Given the description of an element on the screen output the (x, y) to click on. 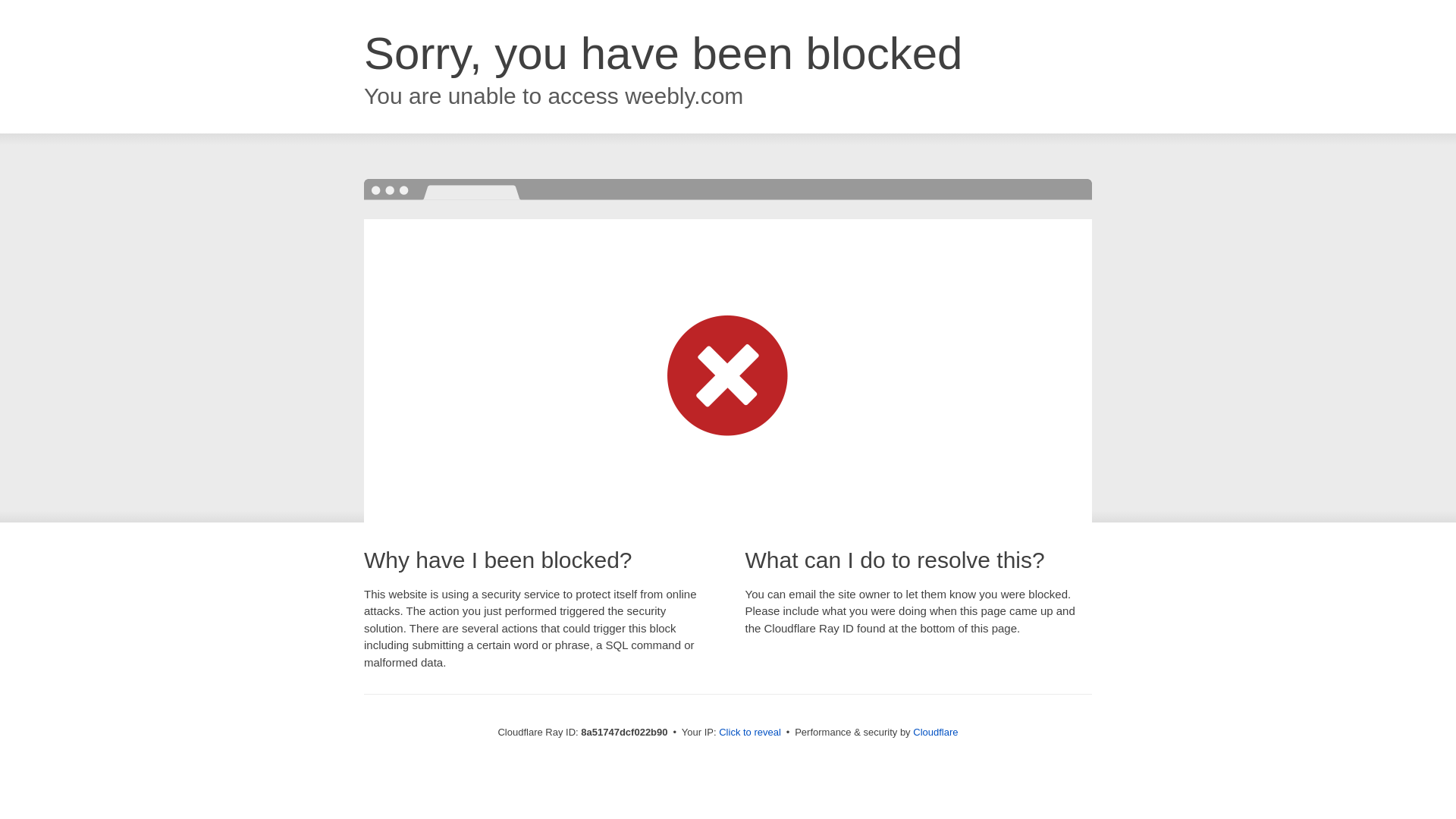
Click to reveal (749, 732)
Cloudflare (935, 731)
